Given the description of an element on the screen output the (x, y) to click on. 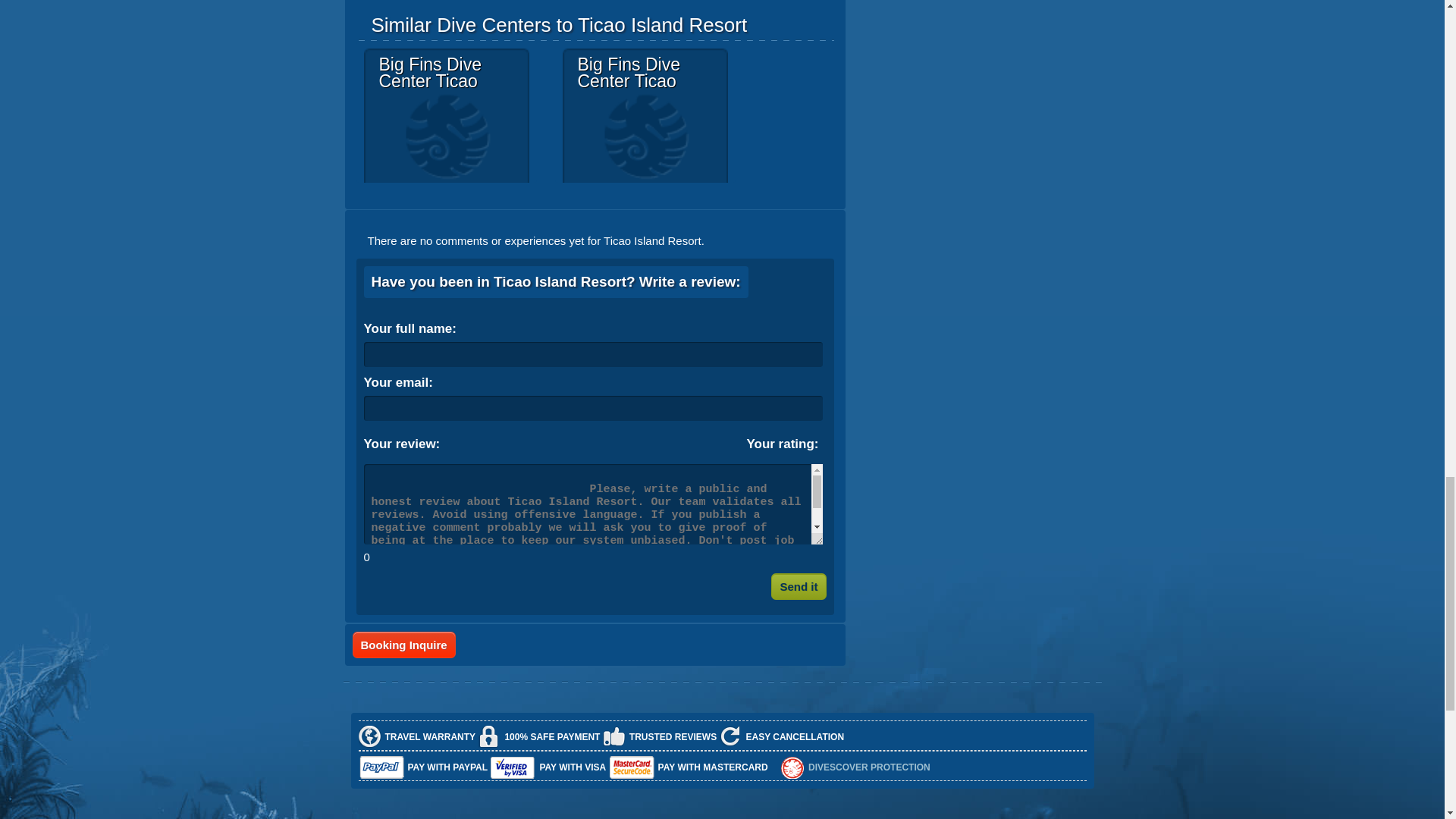
Big Fins Dive Center Ticao (446, 111)
Big Fins Dive Center Ticao (644, 111)
Send it (798, 586)
Booking Inquire (403, 644)
DIVESCOVER PROTECTION (869, 767)
